Given the description of an element on the screen output the (x, y) to click on. 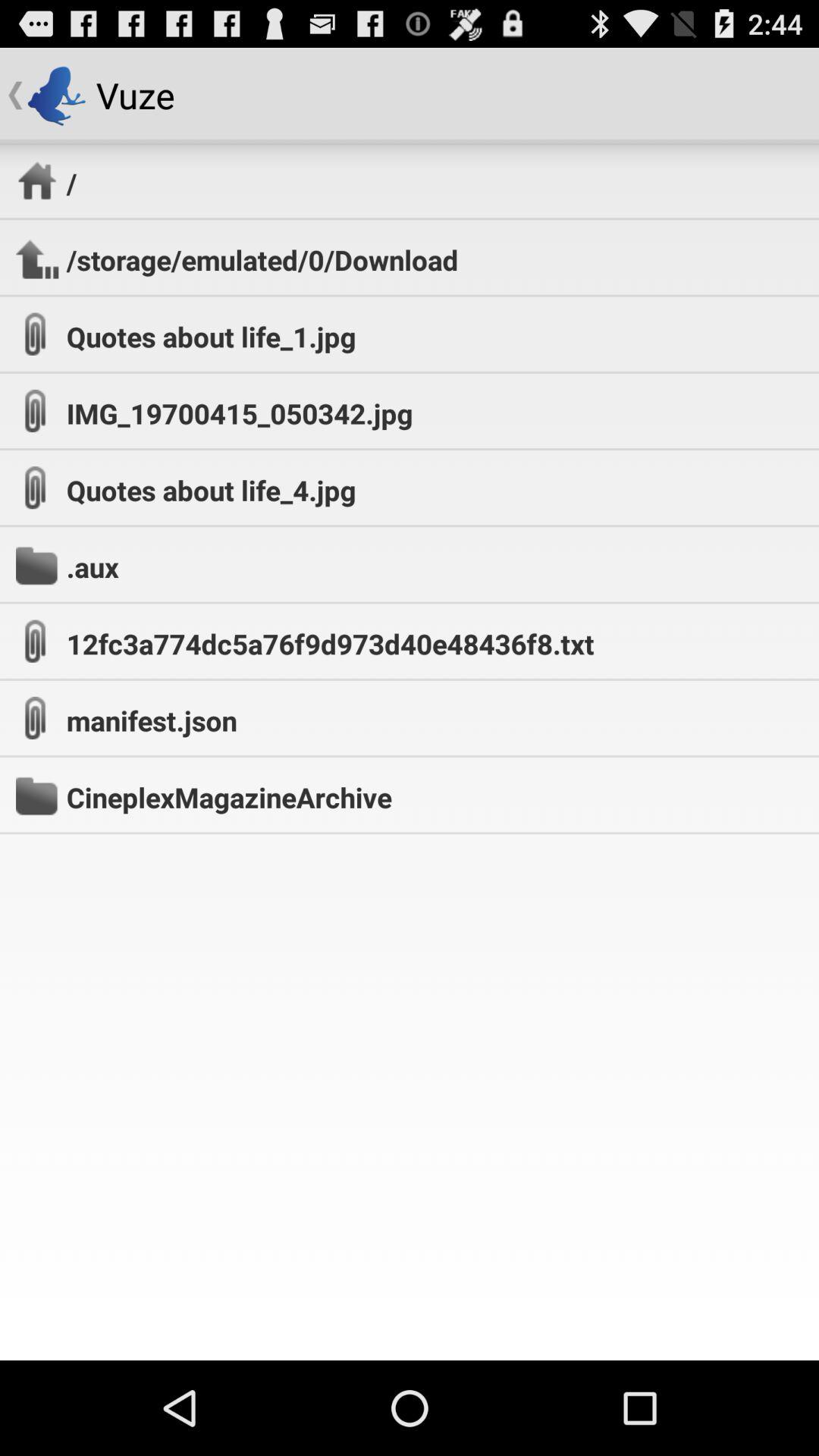
launch the .aux icon (92, 566)
